Given the description of an element on the screen output the (x, y) to click on. 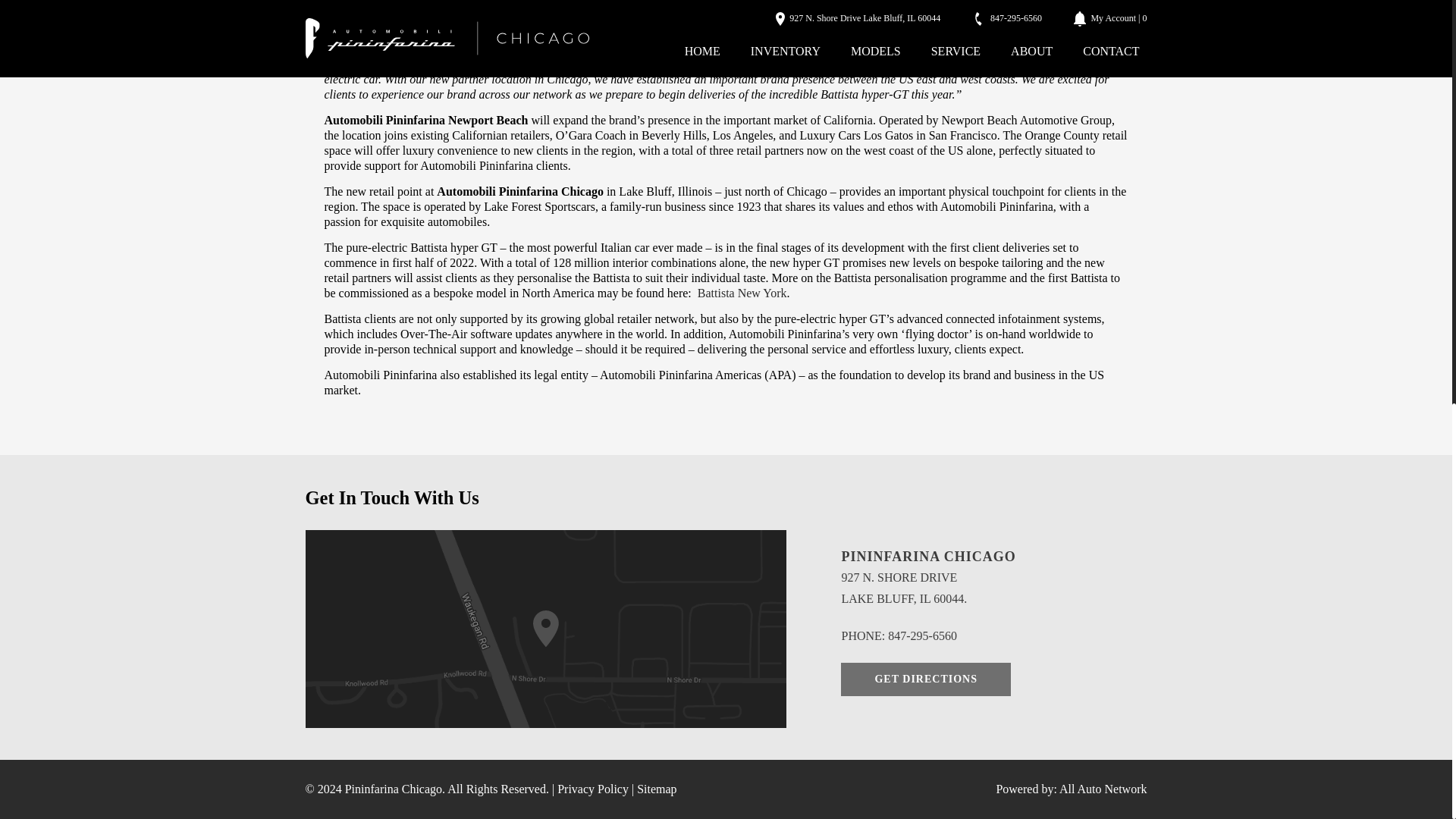
Sitemap (657, 788)
GET DIRECTIONS (925, 679)
All Auto Network (1103, 788)
Battista New York (742, 292)
Privacy Policy (594, 788)
